Given the description of an element on the screen output the (x, y) to click on. 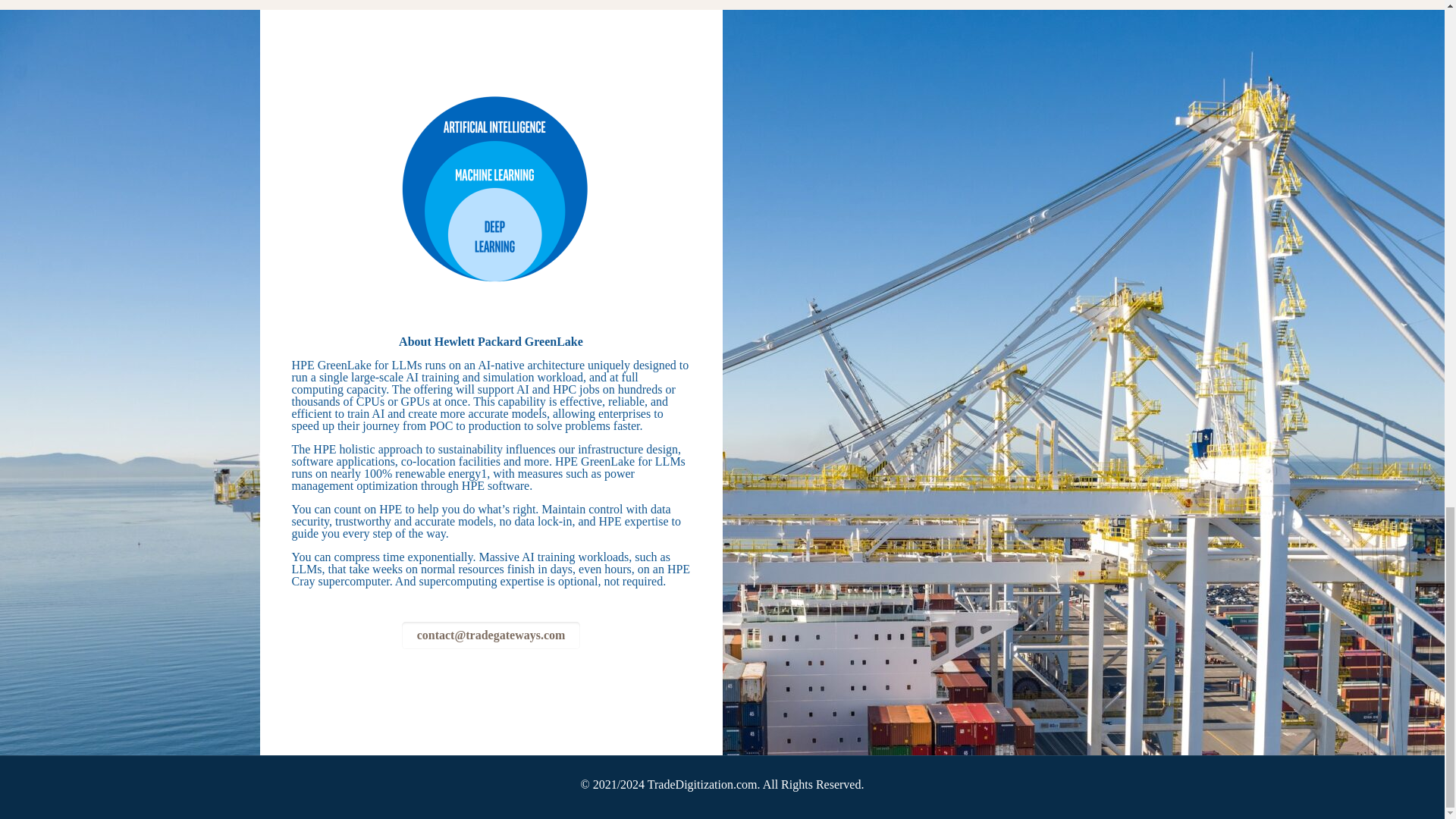
ai-480-270 (490, 187)
